Given the description of an element on the screen output the (x, y) to click on. 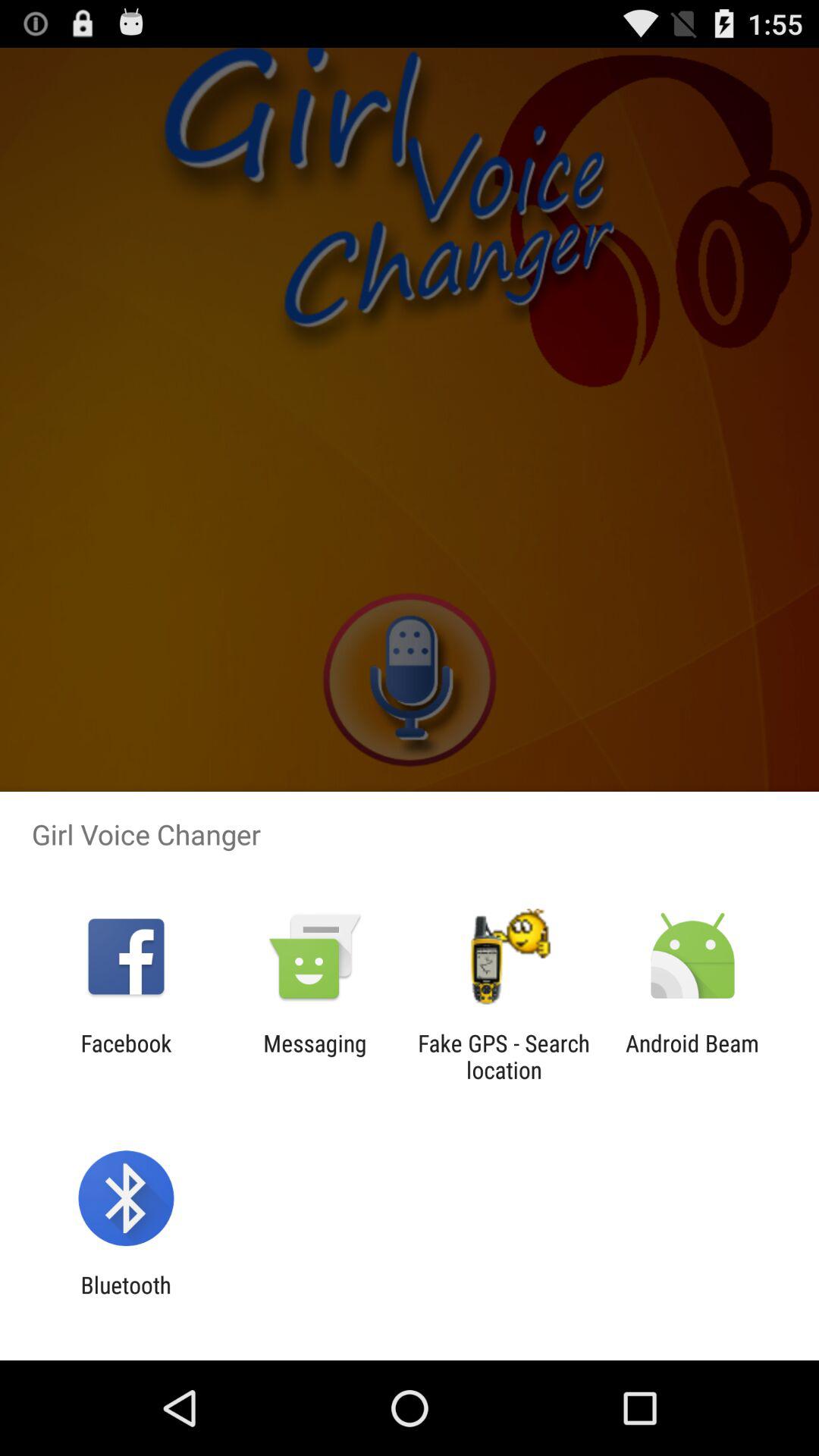
click app next to messaging item (503, 1056)
